Given the description of an element on the screen output the (x, y) to click on. 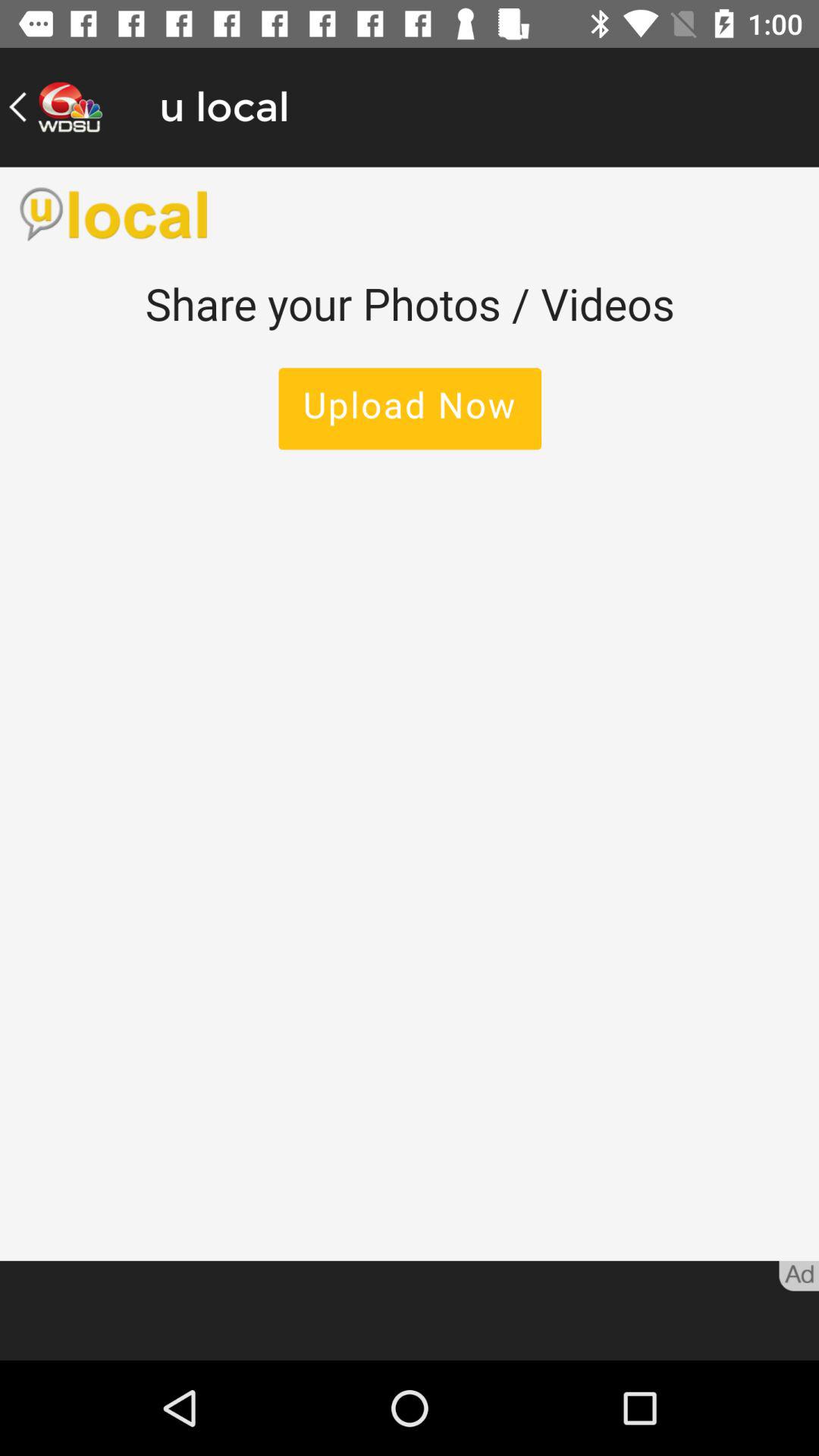
view your media (409, 713)
